Given the description of an element on the screen output the (x, y) to click on. 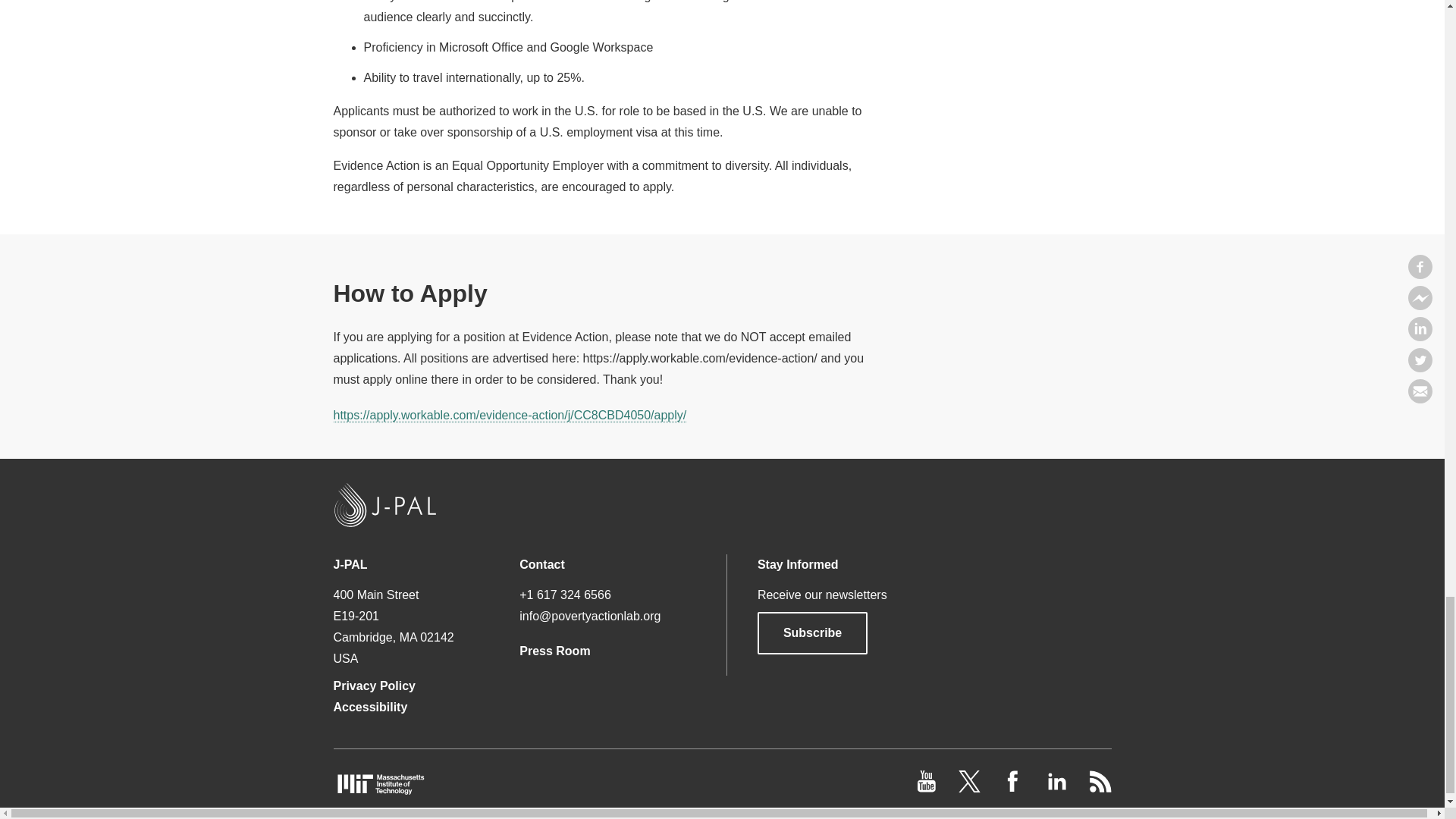
facebook (1015, 788)
twitter (971, 788)
rss feed (1099, 788)
LinkedIn (1057, 788)
youtube (927, 788)
